Given the description of an element on the screen output the (x, y) to click on. 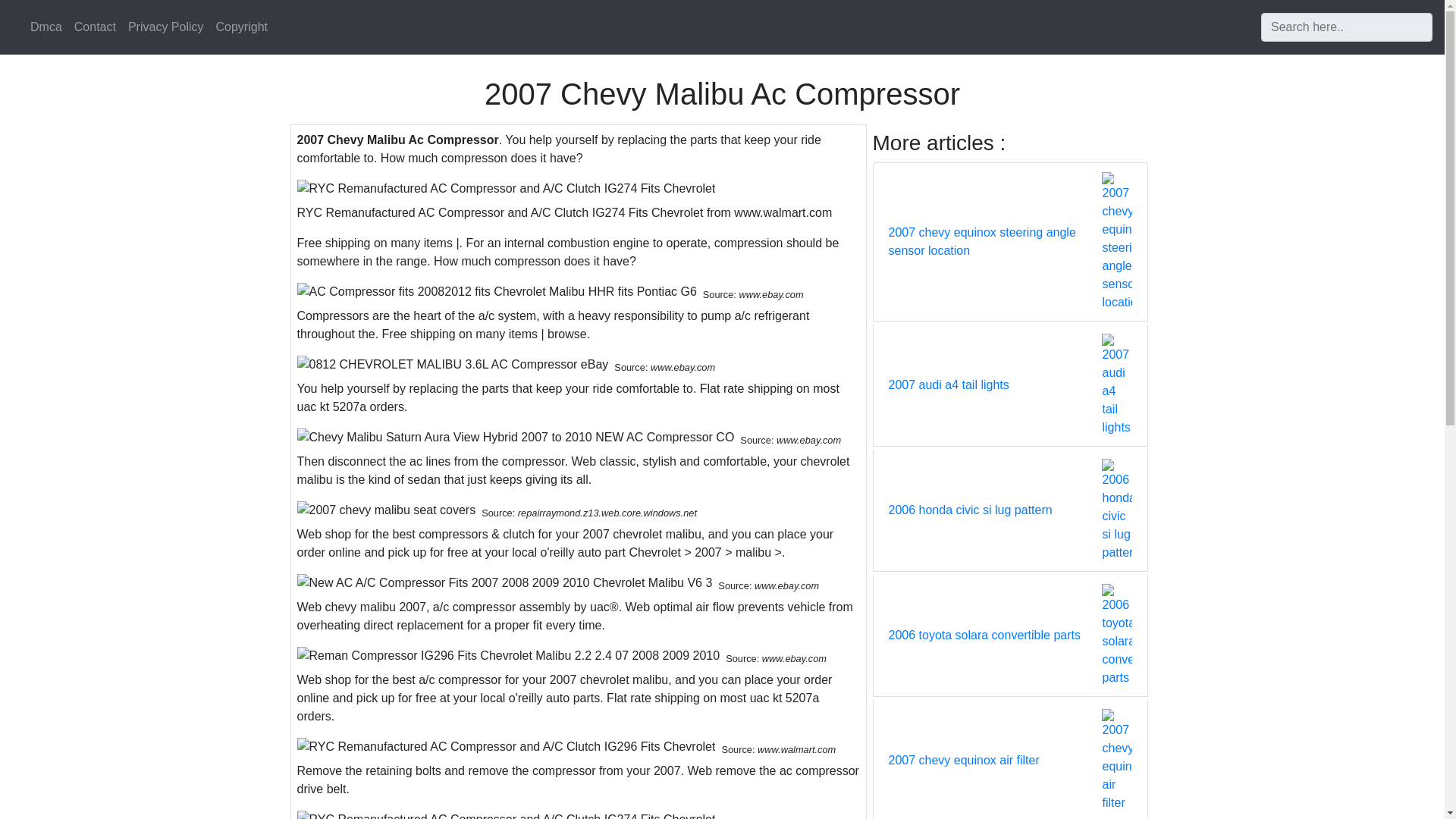
Copyright (241, 27)
2007 chevy equinox steering angle sensor location (995, 241)
Contact (95, 27)
Dmca (46, 27)
Privacy Policy (165, 27)
2006 honda civic si lug pattern (970, 510)
2007 audi a4 tail lights (948, 384)
2006 toyota solara convertible parts (984, 635)
2007 chevy equinox air filter (963, 760)
